Given the description of an element on the screen output the (x, y) to click on. 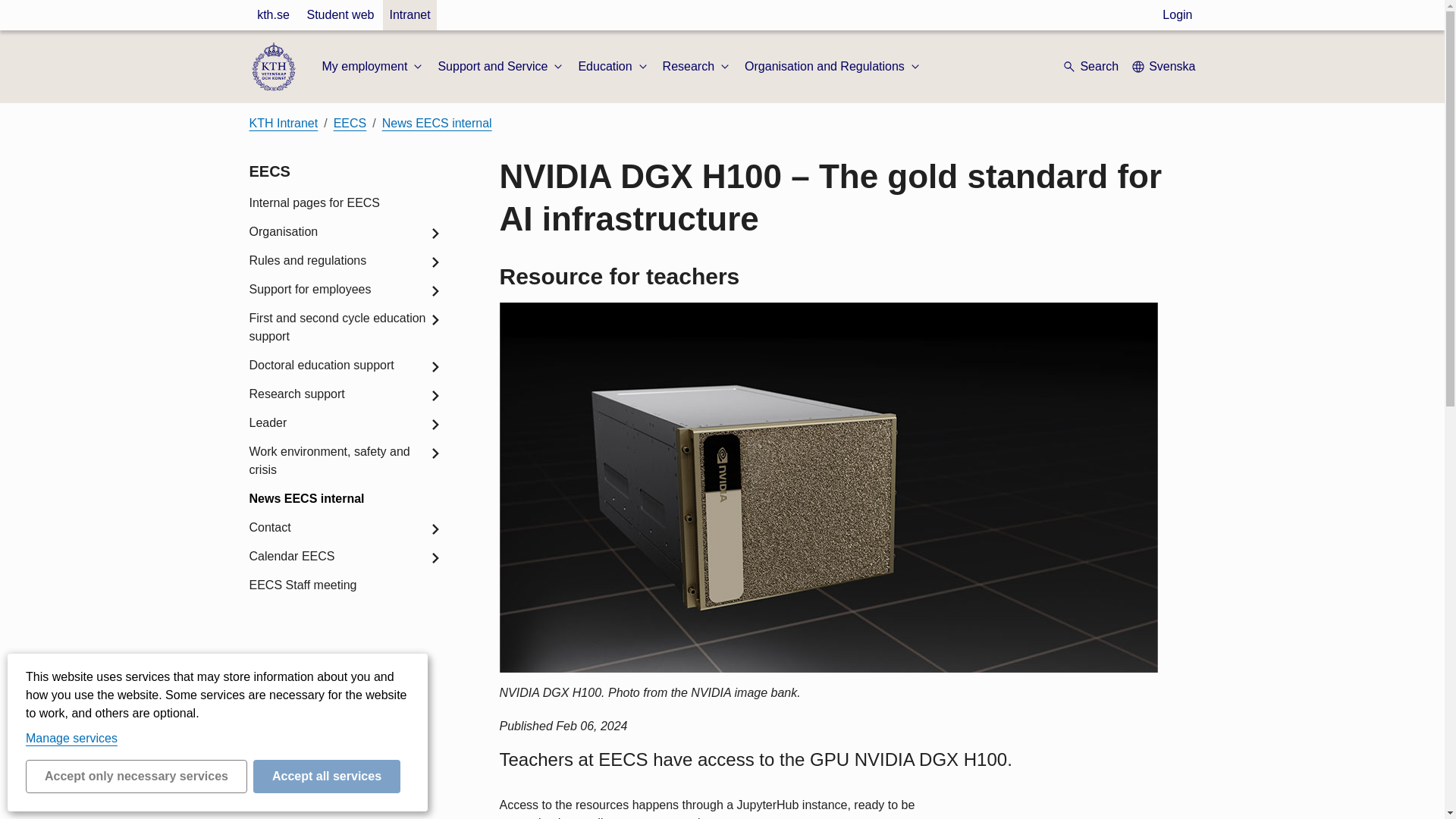
My employment (373, 66)
kth.se (272, 15)
Intranet (408, 15)
Manage services (71, 738)
Student web (339, 15)
Education (613, 66)
Accept only necessary services (136, 776)
Research (697, 66)
Support and Service (502, 66)
Login (1176, 15)
